Given the description of an element on the screen output the (x, y) to click on. 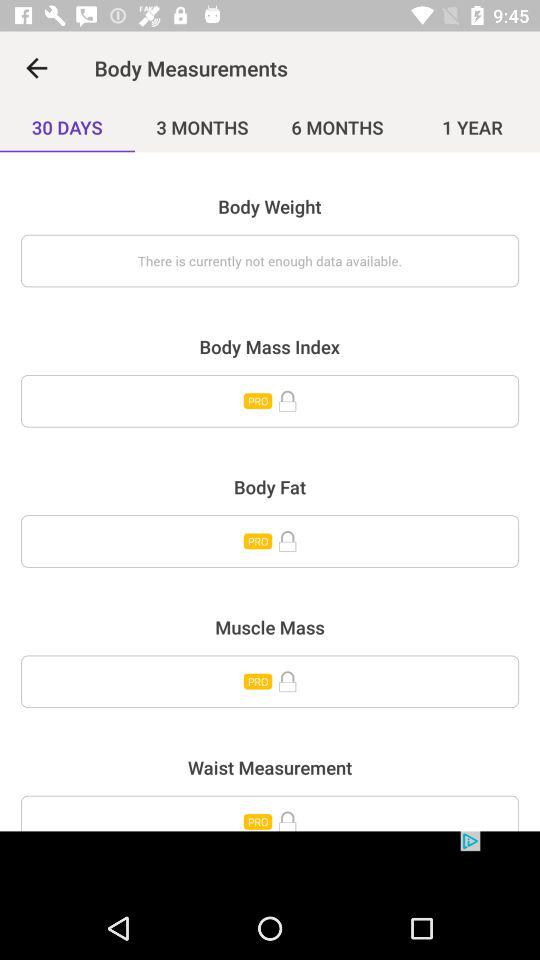
lock option (269, 541)
